Given the description of an element on the screen output the (x, y) to click on. 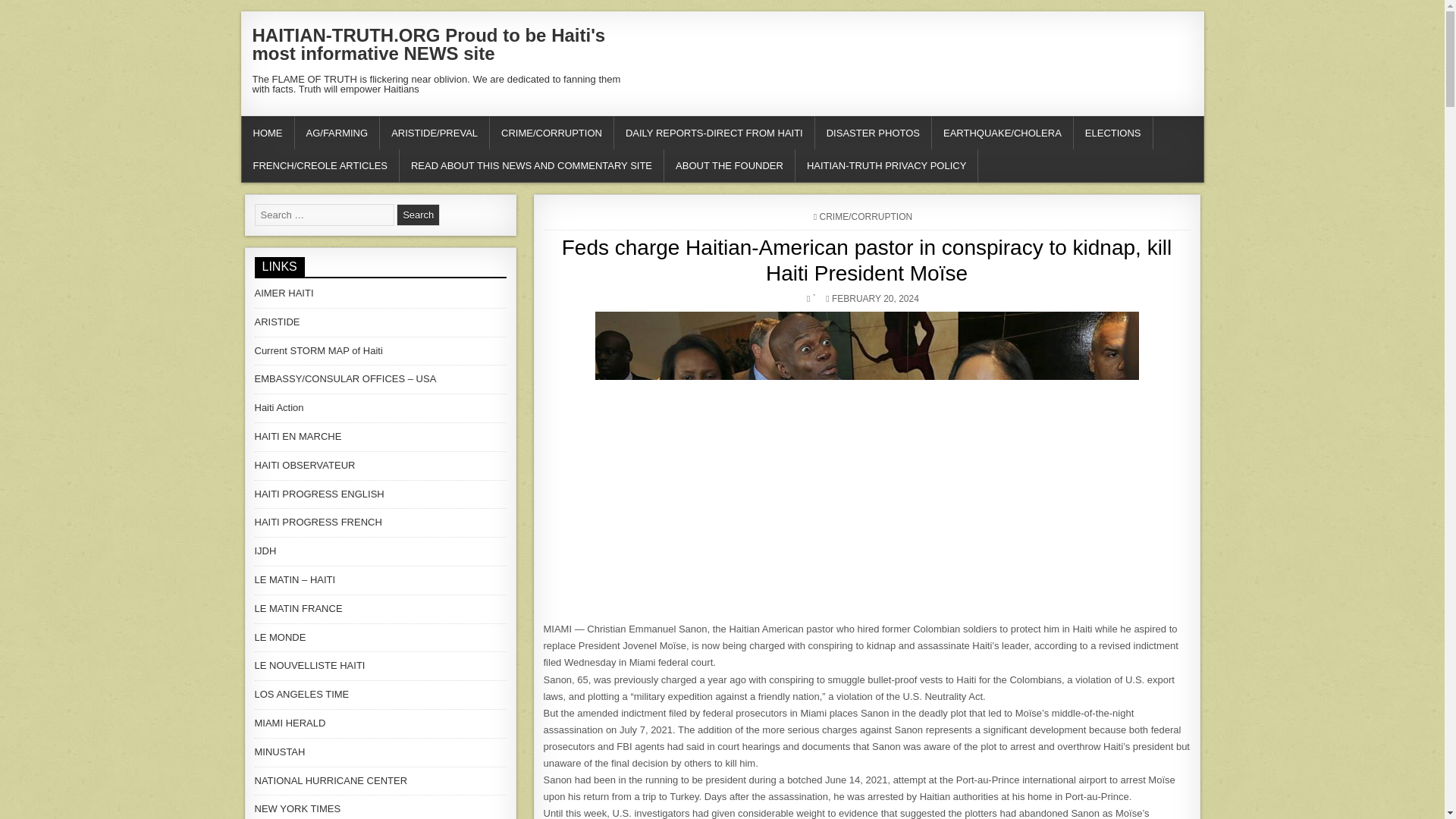
ABOUT THE FOUNDER (728, 165)
HAITI PROGRESS ENGLISH (319, 493)
Current STORM MAP of Haiti (318, 350)
HAITI OBSERVATEUR (304, 464)
Search (417, 214)
DISASTER PHOTOS (873, 133)
HAITI PROGRESS FRENCH (317, 521)
READ ABOUT THIS NEWS AND COMMENTARY SITE (530, 165)
Haiti Action (279, 407)
HAITI EN MARCHE (298, 436)
News site (279, 407)
ELECTIONS (1113, 133)
Search (417, 214)
